Given the description of an element on the screen output the (x, y) to click on. 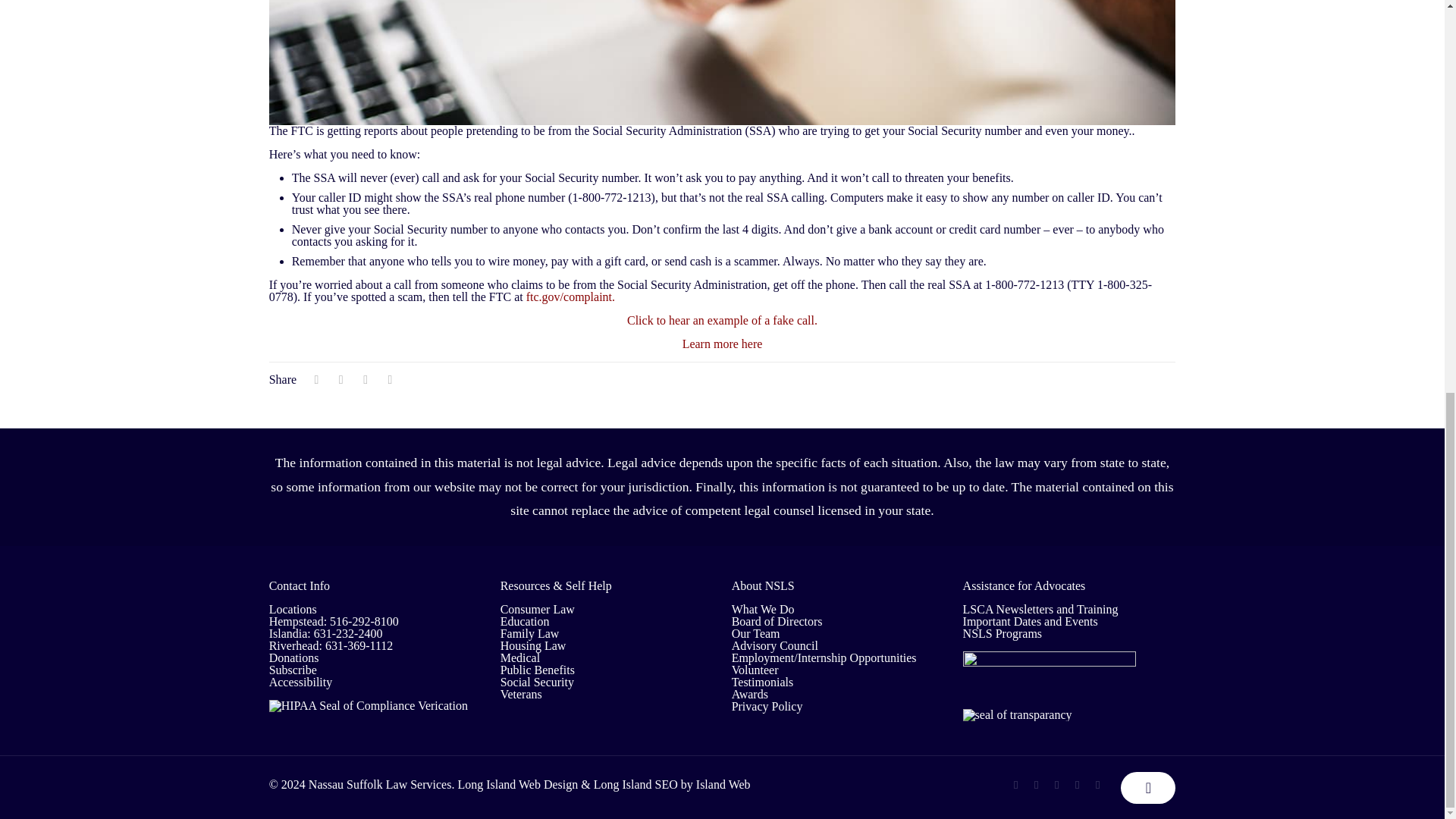
Twitter (1035, 784)
Facebook (1015, 784)
Instagram (1097, 784)
Click to hear an example of a fake call. (721, 319)
YouTube (1056, 784)
LinkedIn (1076, 784)
